Given the description of an element on the screen output the (x, y) to click on. 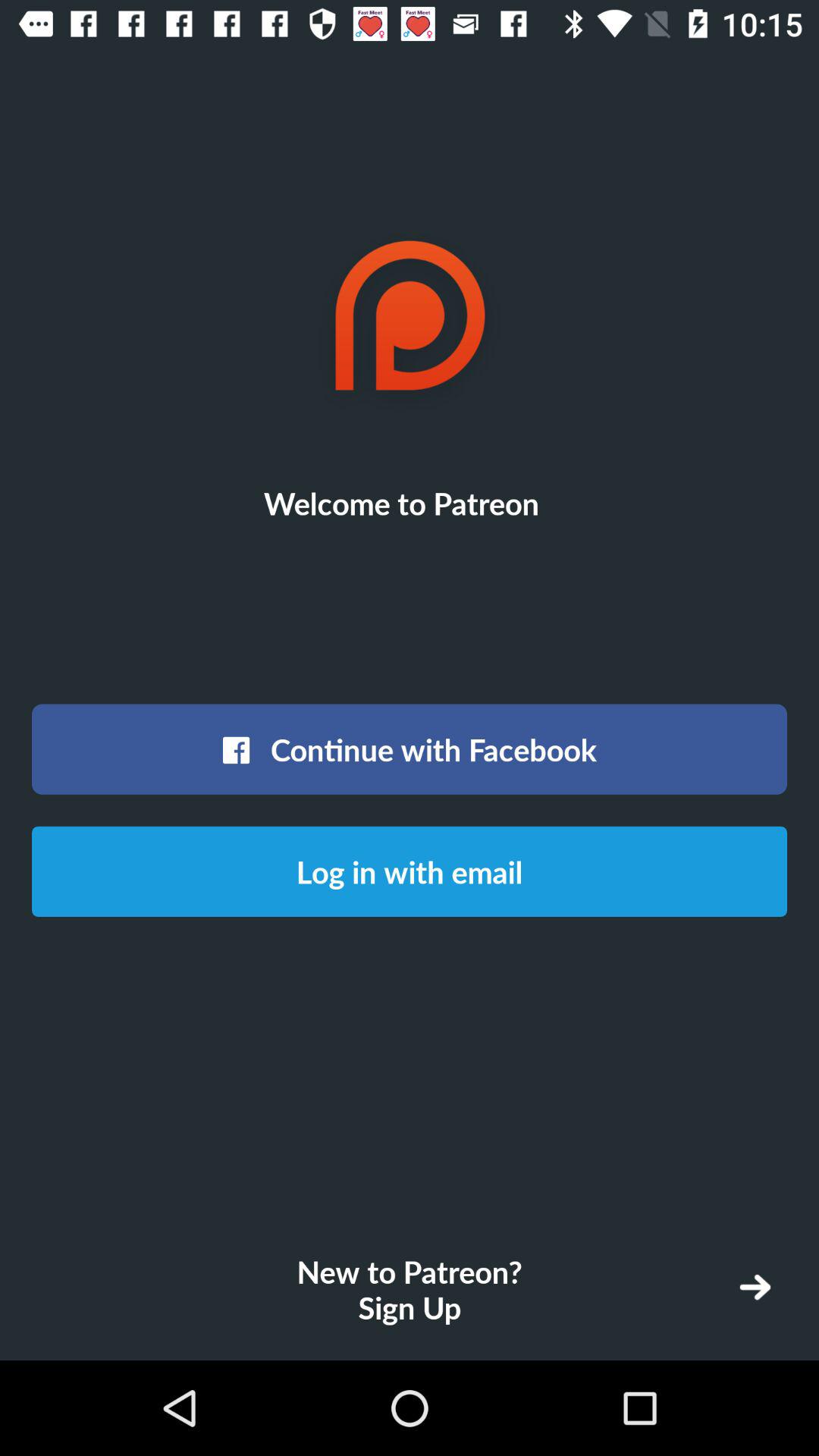
open item above the log in with icon (409, 749)
